Given the description of an element on the screen output the (x, y) to click on. 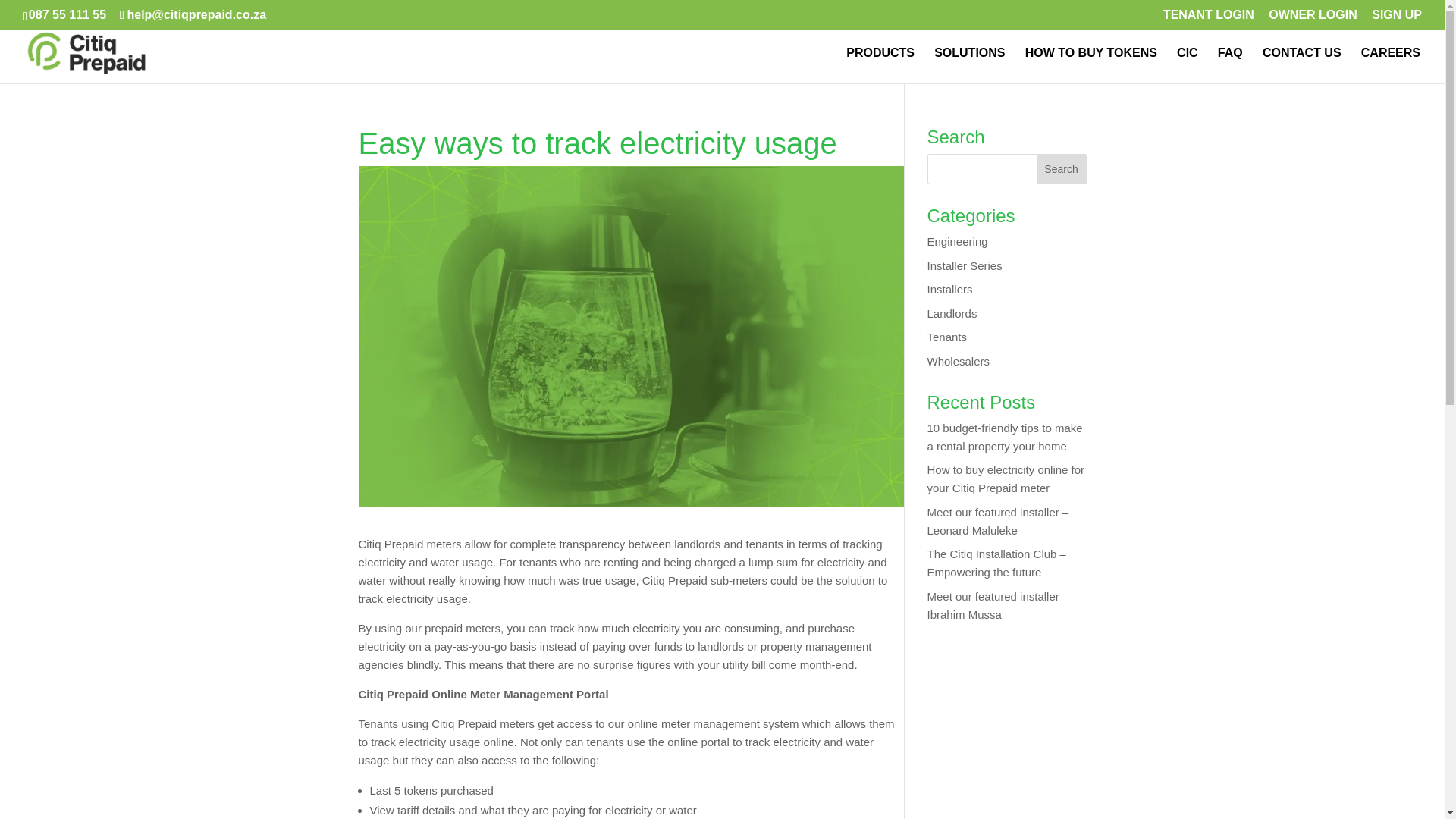
Engineering (956, 241)
SIGN UP (1396, 19)
How to buy electricity online for your Citiq Prepaid meter (1005, 478)
Tenants (946, 336)
Installers (949, 288)
PRODUCTS (879, 65)
CAREERS (1391, 65)
CONTACT US (1301, 65)
Search (1061, 168)
HOW TO BUY TOKENS (1091, 65)
